Given the description of an element on the screen output the (x, y) to click on. 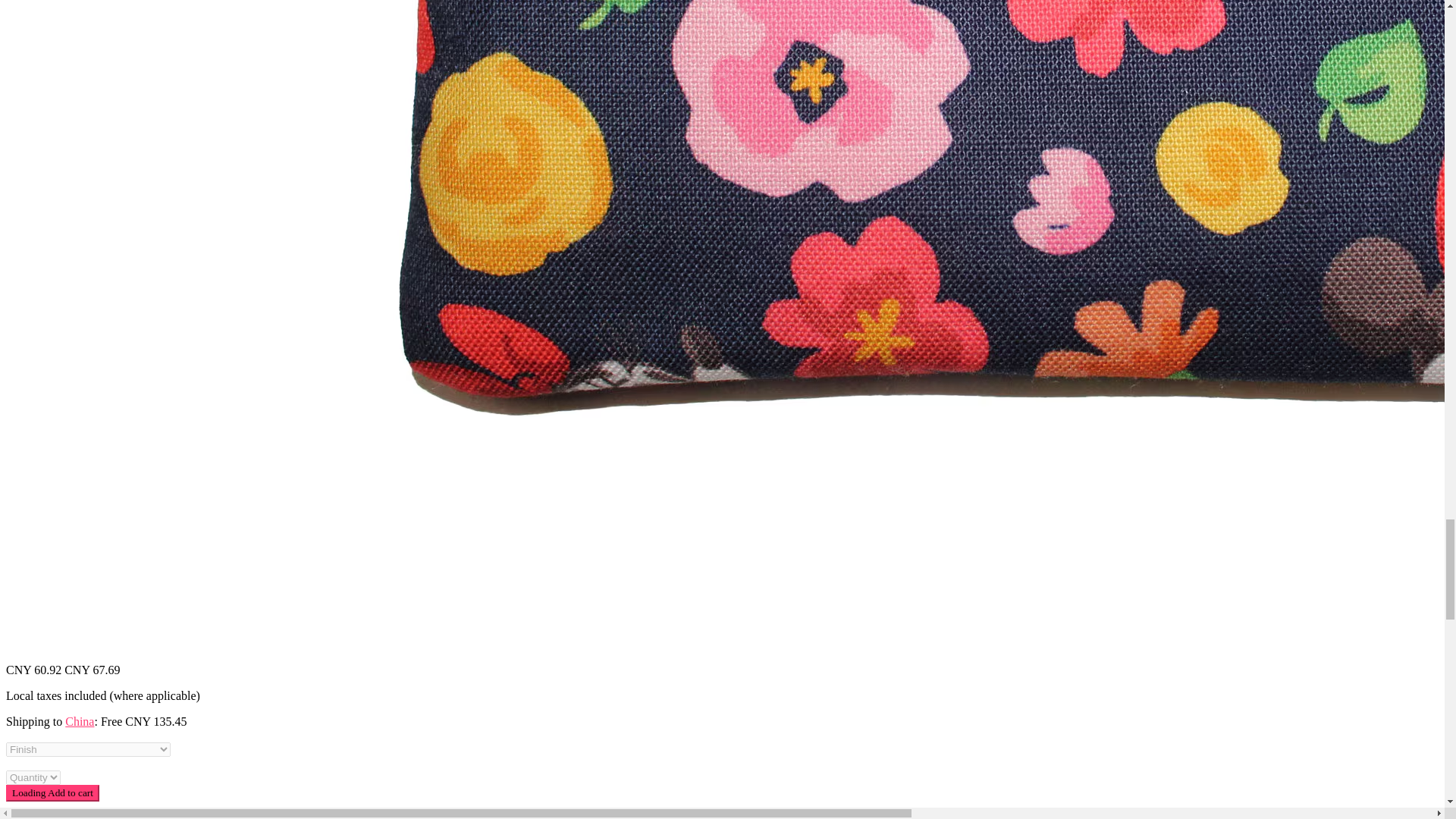
Loading Add to cart (52, 792)
China (79, 721)
